Given the description of an element on the screen output the (x, y) to click on. 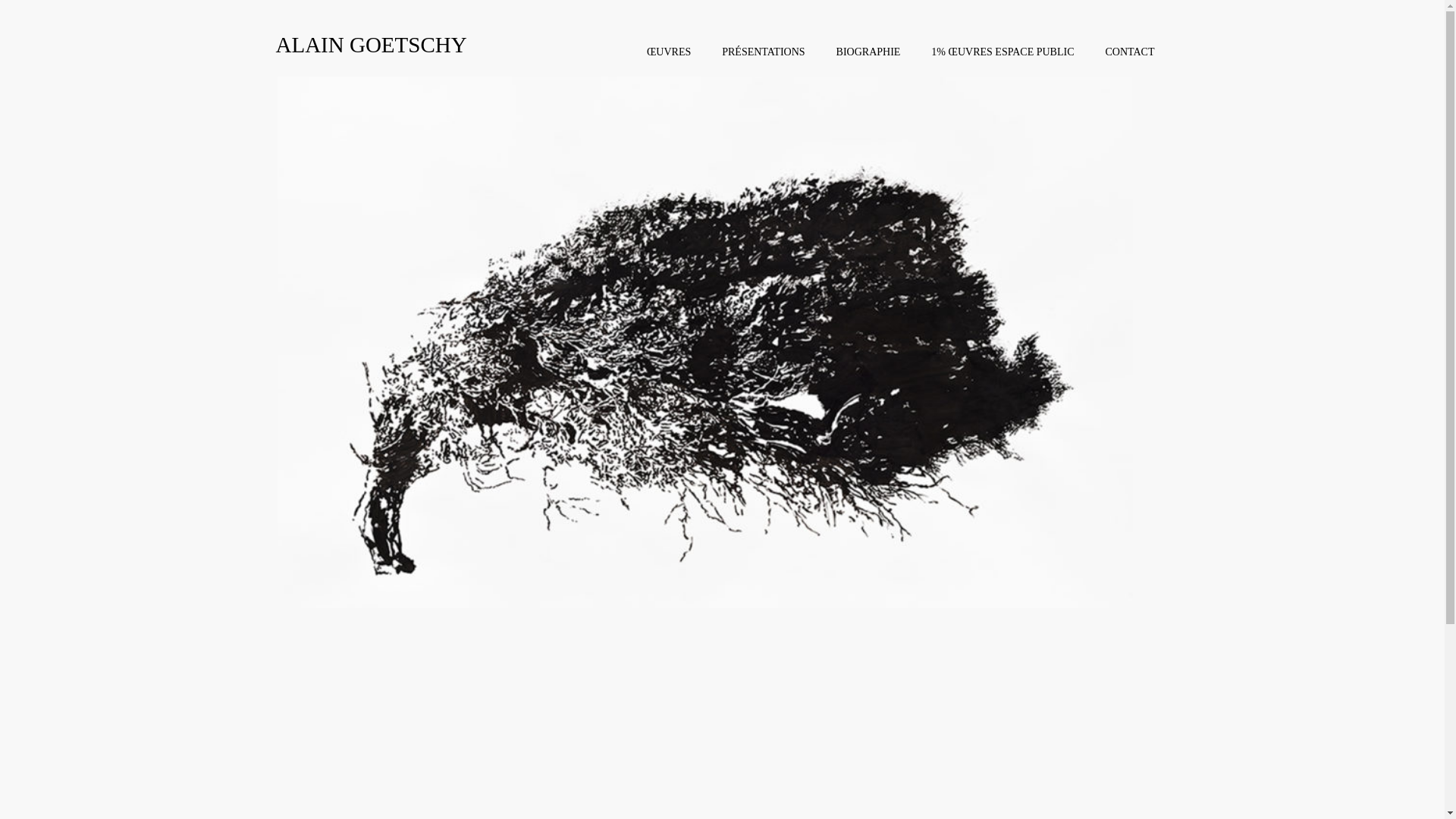
CONTACT (1129, 52)
ALAIN GOETSCHY (371, 36)
BIOGRAPHIE (868, 52)
